Given the description of an element on the screen output the (x, y) to click on. 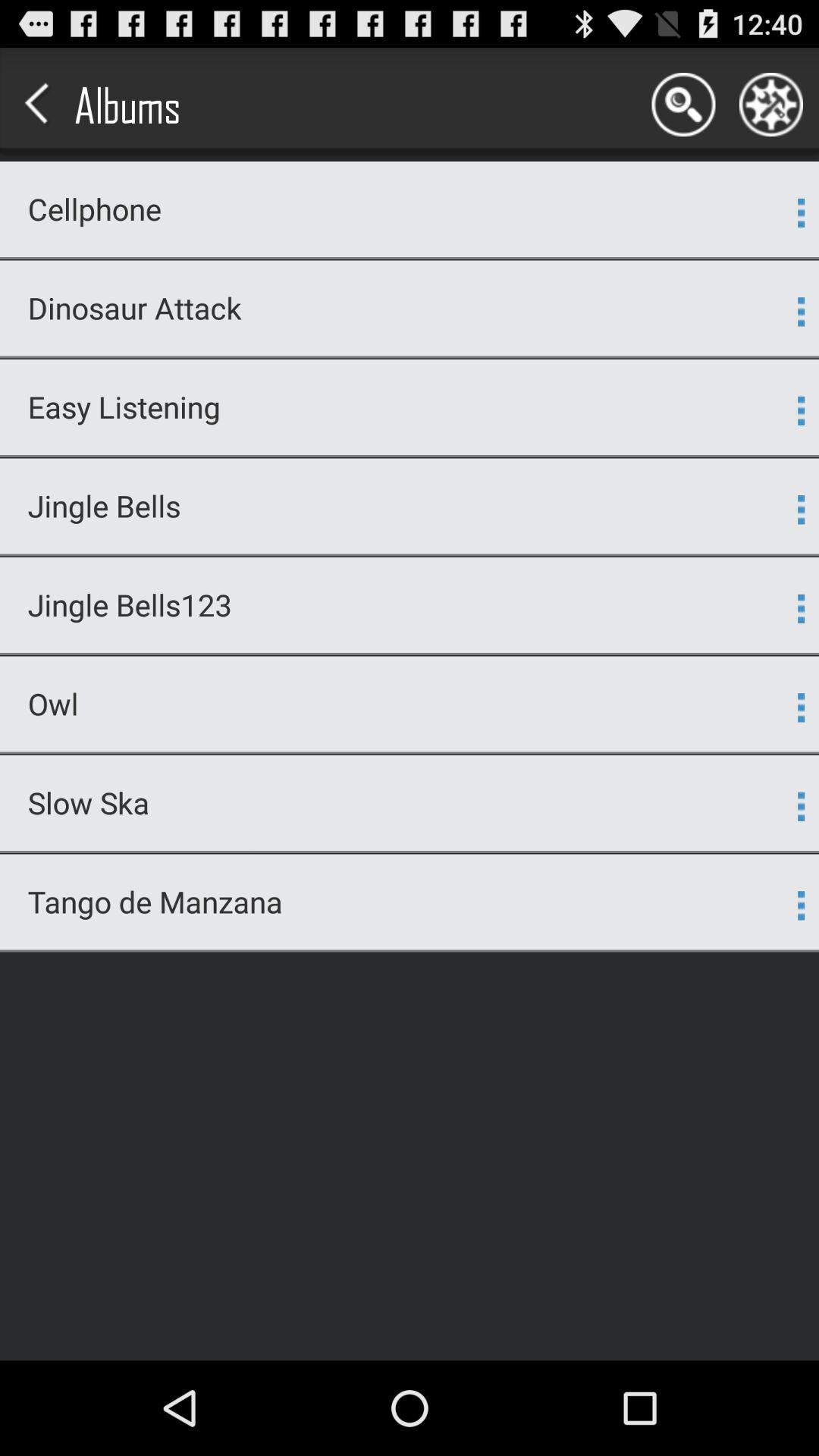
turn off app next to slow ska (800, 806)
